Given the description of an element on the screen output the (x, y) to click on. 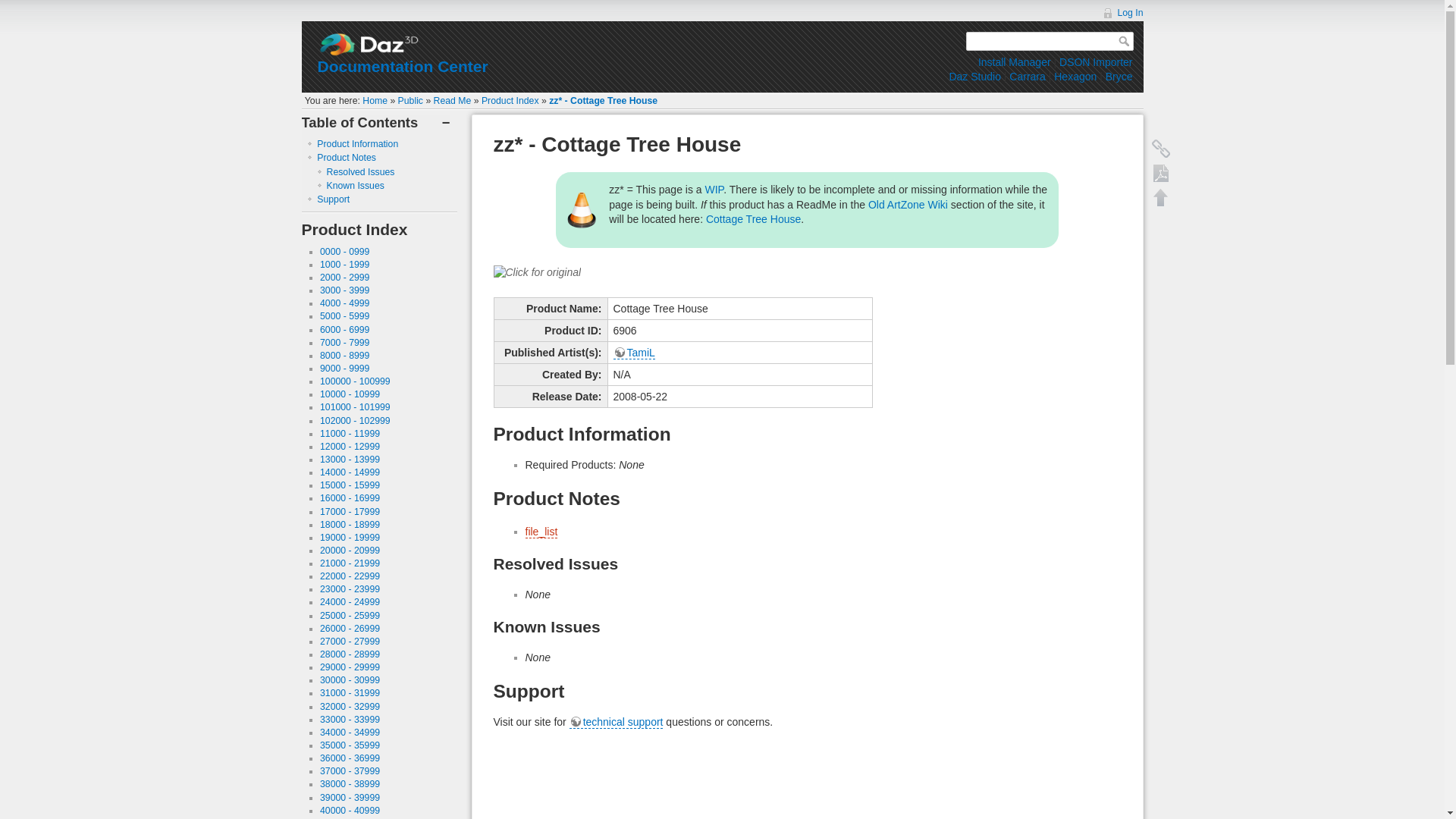
Product Notes (346, 157)
102000 - 102999 (355, 420)
1000 - 1999 (344, 264)
start (374, 100)
11000 - 11999 (350, 433)
Log In (1122, 12)
Public (410, 100)
6000 - 6999 (344, 329)
2000 - 2999 (344, 276)
Search (1125, 40)
